Given the description of an element on the screen output the (x, y) to click on. 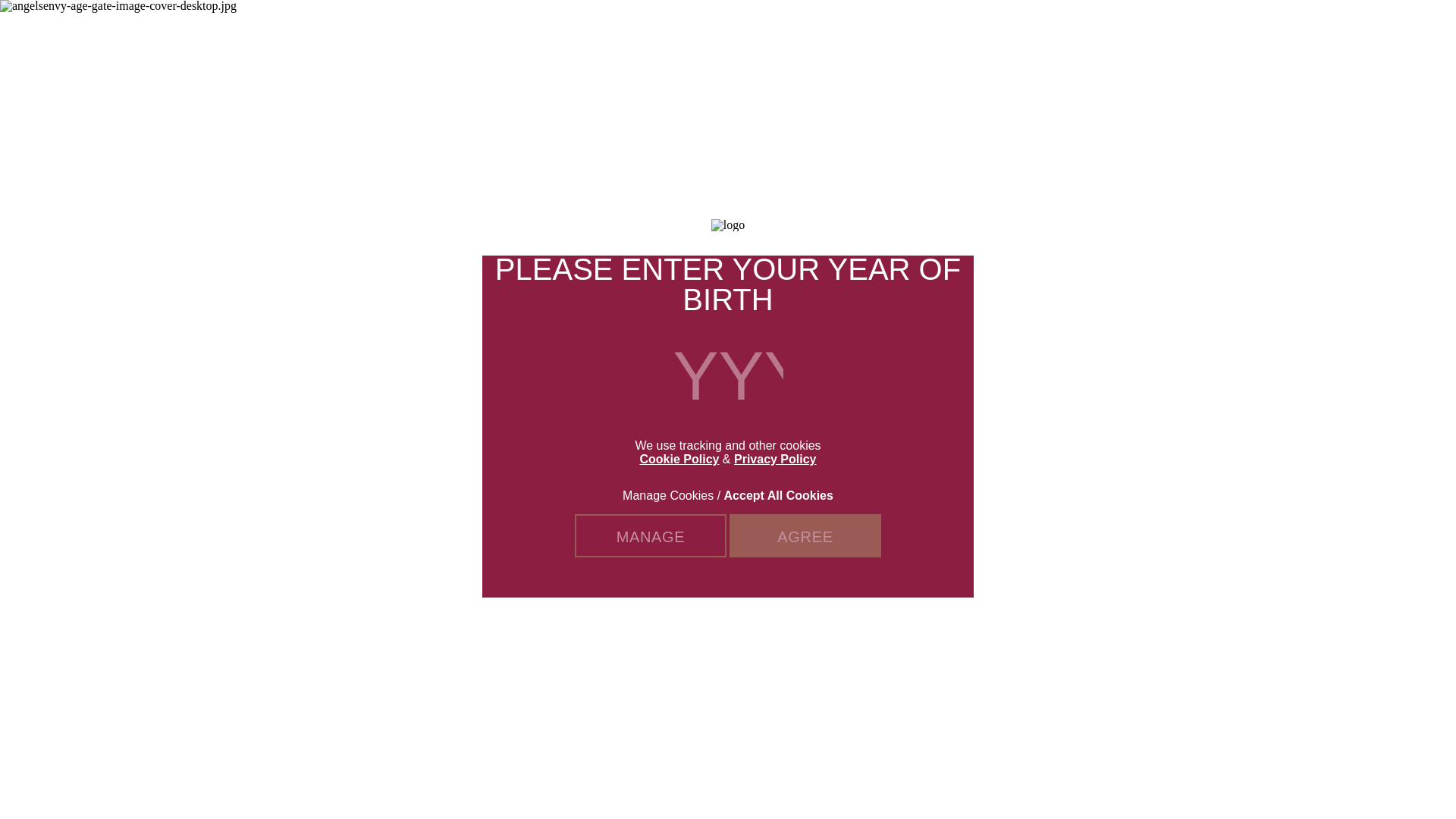
RECIPES (848, 29)
MANAGE BOOKING (1109, 29)
Cookies Settings (33, 792)
VISIT US (1308, 29)
SHOP (966, 29)
OUR STORY (781, 29)
OUR WHISKEY (583, 29)
OUR DISTILLERY (685, 29)
500 MAIN (1211, 29)
GIFT CARD (1022, 29)
THE GUIDE (910, 29)
